Given the description of an element on the screen output the (x, y) to click on. 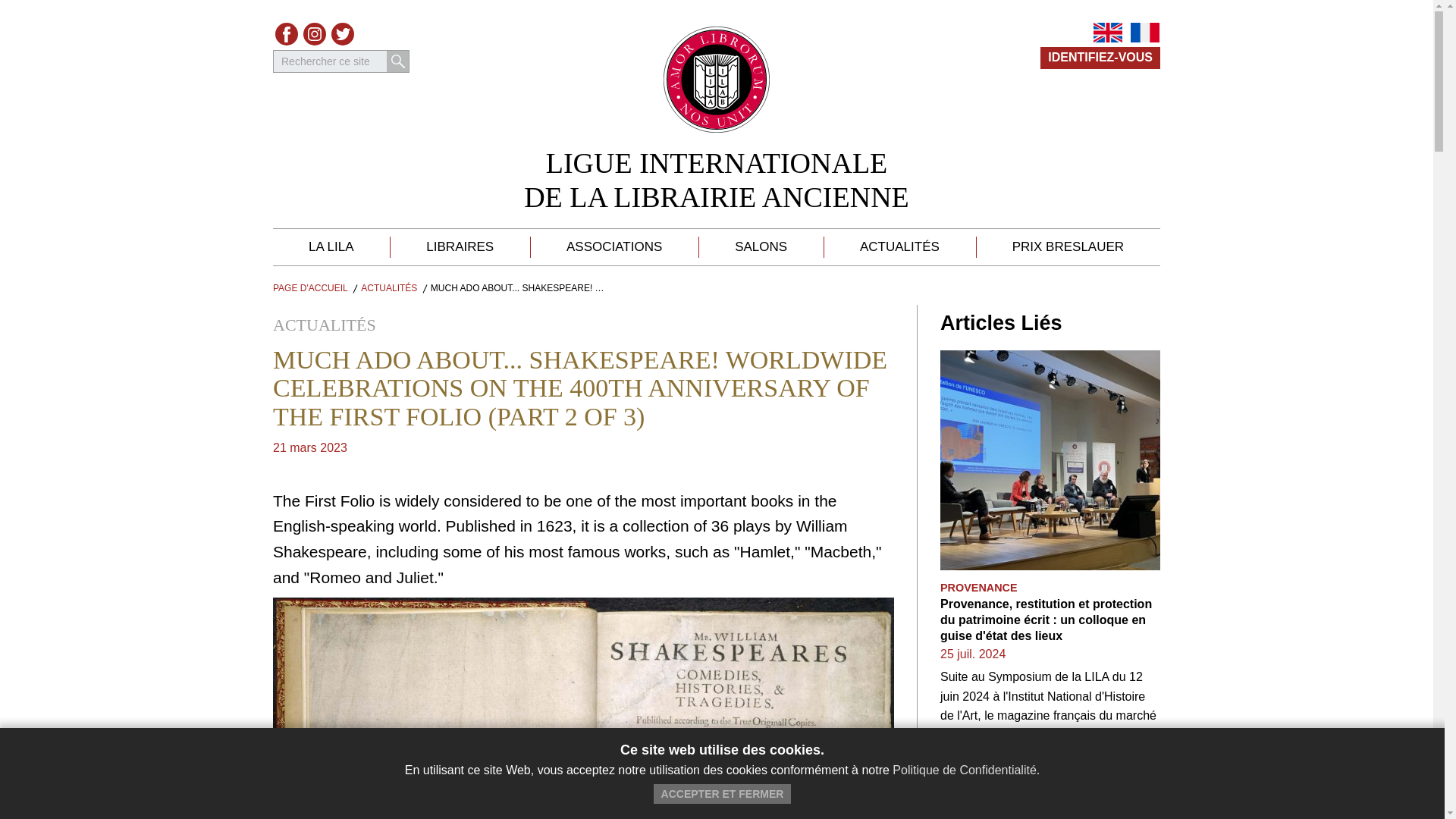
LIBRAIRES (459, 246)
EN (1107, 32)
Visitez notre page Facebook (286, 33)
Twitter (716, 180)
ACCEPTER ET FERMER (342, 33)
RECHERCHER (722, 793)
Voir nos messages Twitter (398, 60)
SALONS (342, 33)
PAGE D'ACCUEIL (761, 246)
LA LILA (310, 287)
IDENTIFIEZ-VOUS (331, 246)
Facebook (1100, 57)
ASSOCIATIONS (286, 33)
Voir notre flux Instagram (613, 246)
